Given the description of an element on the screen output the (x, y) to click on. 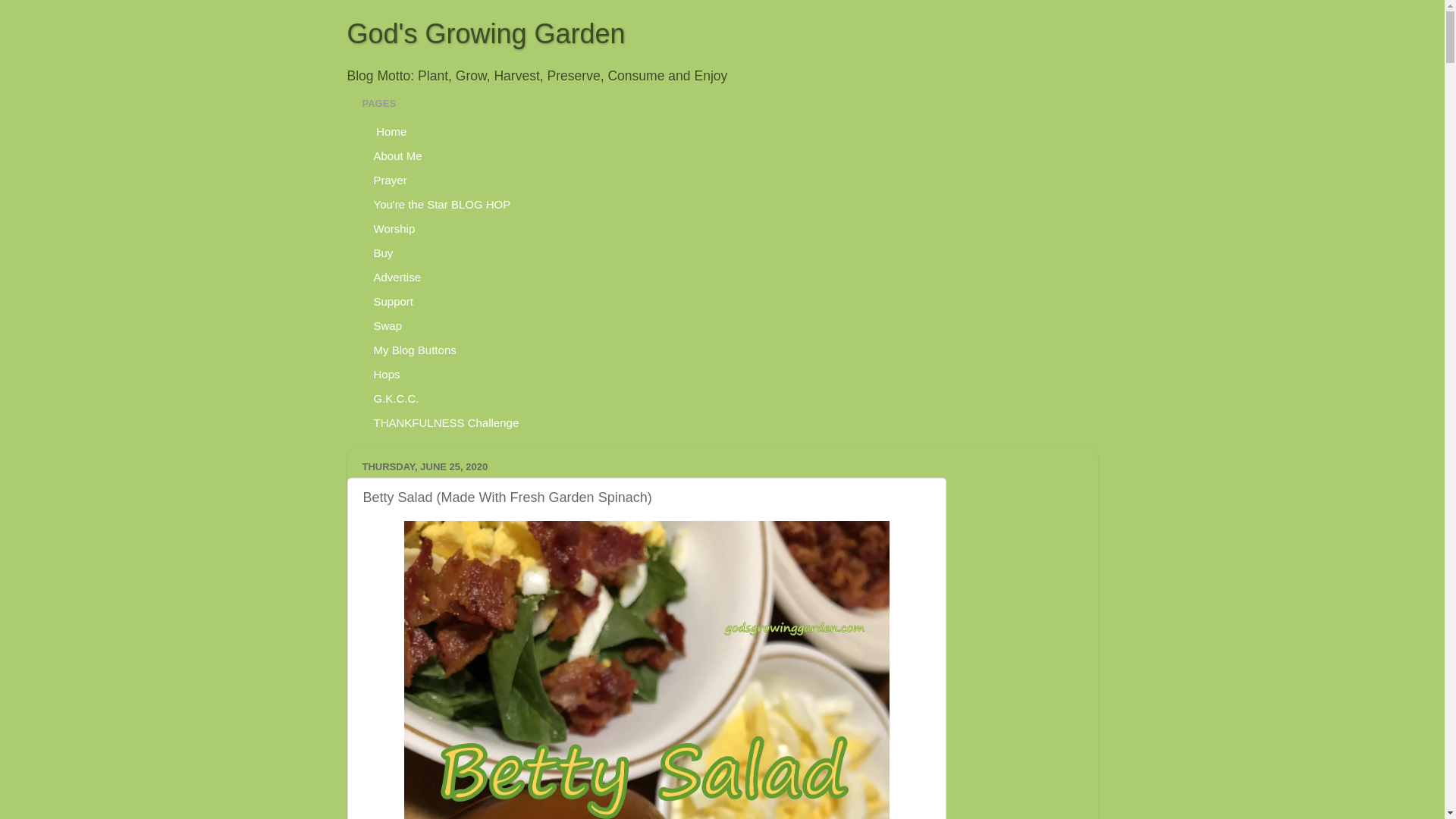
You're the Star BLOG HOP (442, 203)
Prayer (390, 179)
My Blog Buttons (415, 349)
Advertise (397, 276)
About Me (397, 155)
Support (394, 300)
Home (390, 130)
God's Growing Garden (486, 33)
Swap (388, 324)
THANKFULNESS Challenge (446, 422)
Buy (384, 252)
Hops (387, 373)
Worship (395, 228)
G.K.C.C. (396, 397)
